Given the description of an element on the screen output the (x, y) to click on. 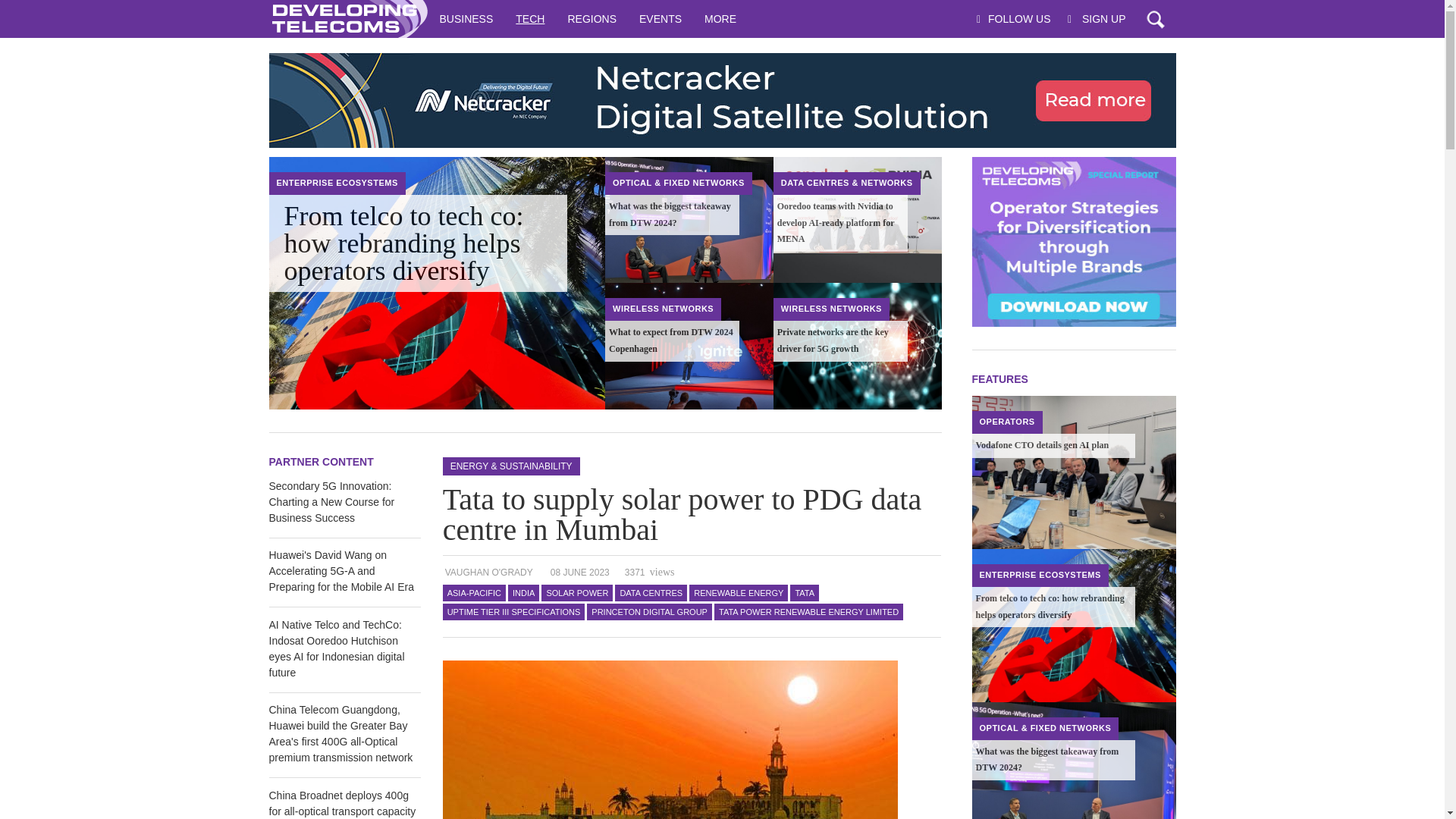
Developing Telecoms (347, 18)
REGIONS (591, 18)
Enterprise Ecosystems (336, 182)
TECH (529, 18)
Click to follow link (720, 100)
BUSINESS (465, 18)
